Given the description of an element on the screen output the (x, y) to click on. 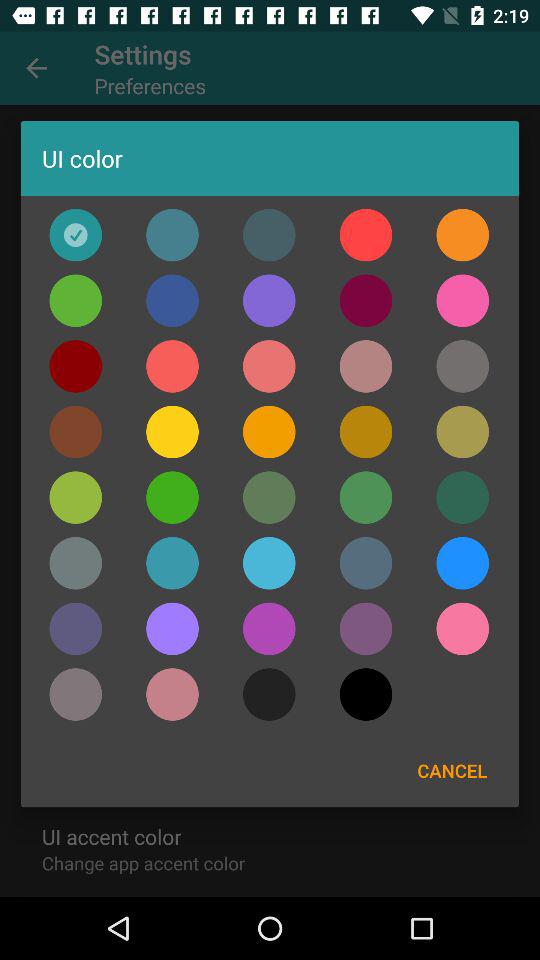
click on color to choose (269, 234)
